Given the description of an element on the screen output the (x, y) to click on. 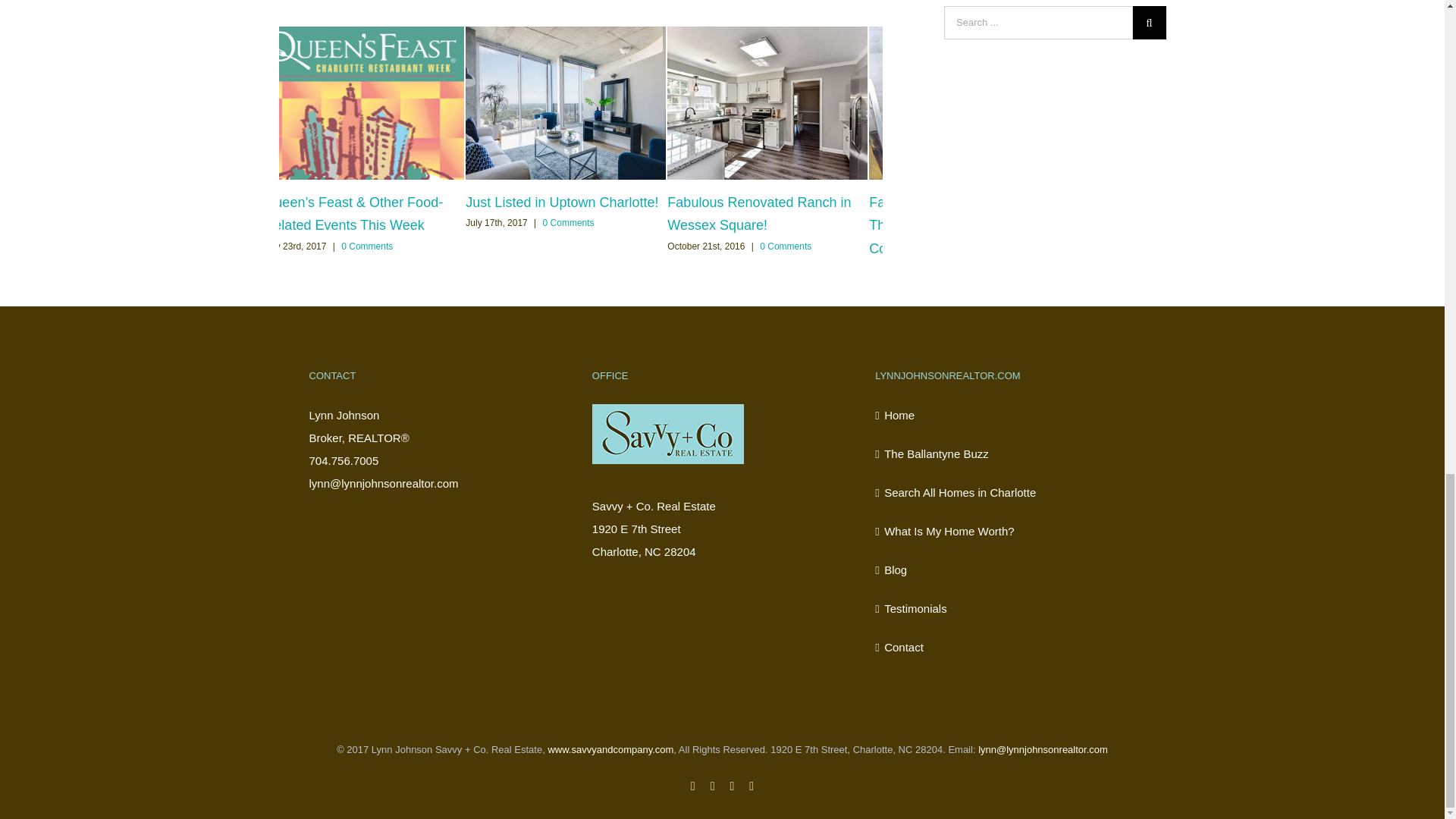
0 Comments (366, 245)
0 Comments (785, 245)
Fabulous Renovated Ranch in Wessex Square! (758, 213)
Just Listed in Uptown Charlotte! (561, 201)
0 Comments (568, 222)
